Given the description of an element on the screen output the (x, y) to click on. 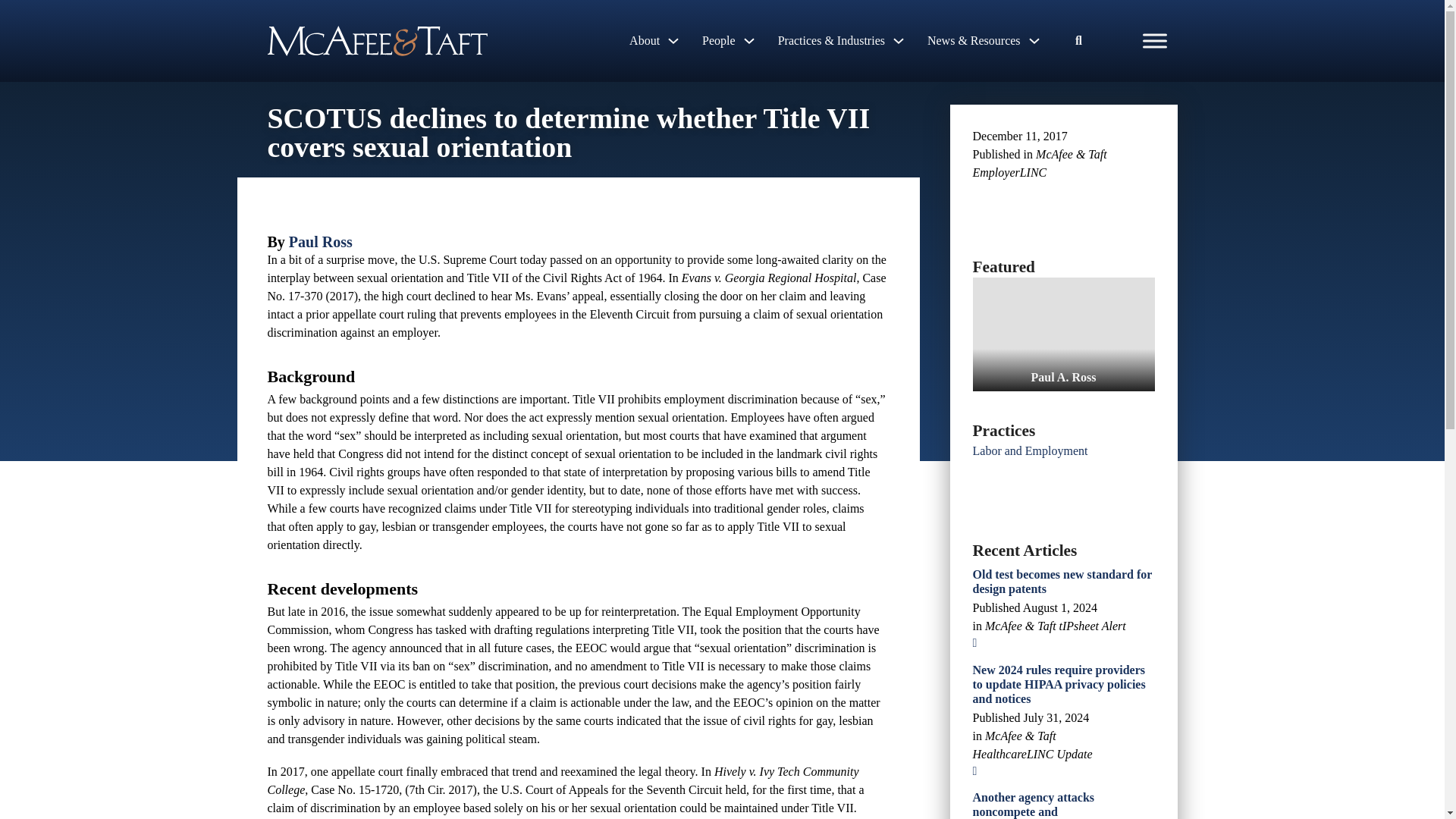
People (718, 40)
About (643, 40)
